Given the description of an element on the screen output the (x, y) to click on. 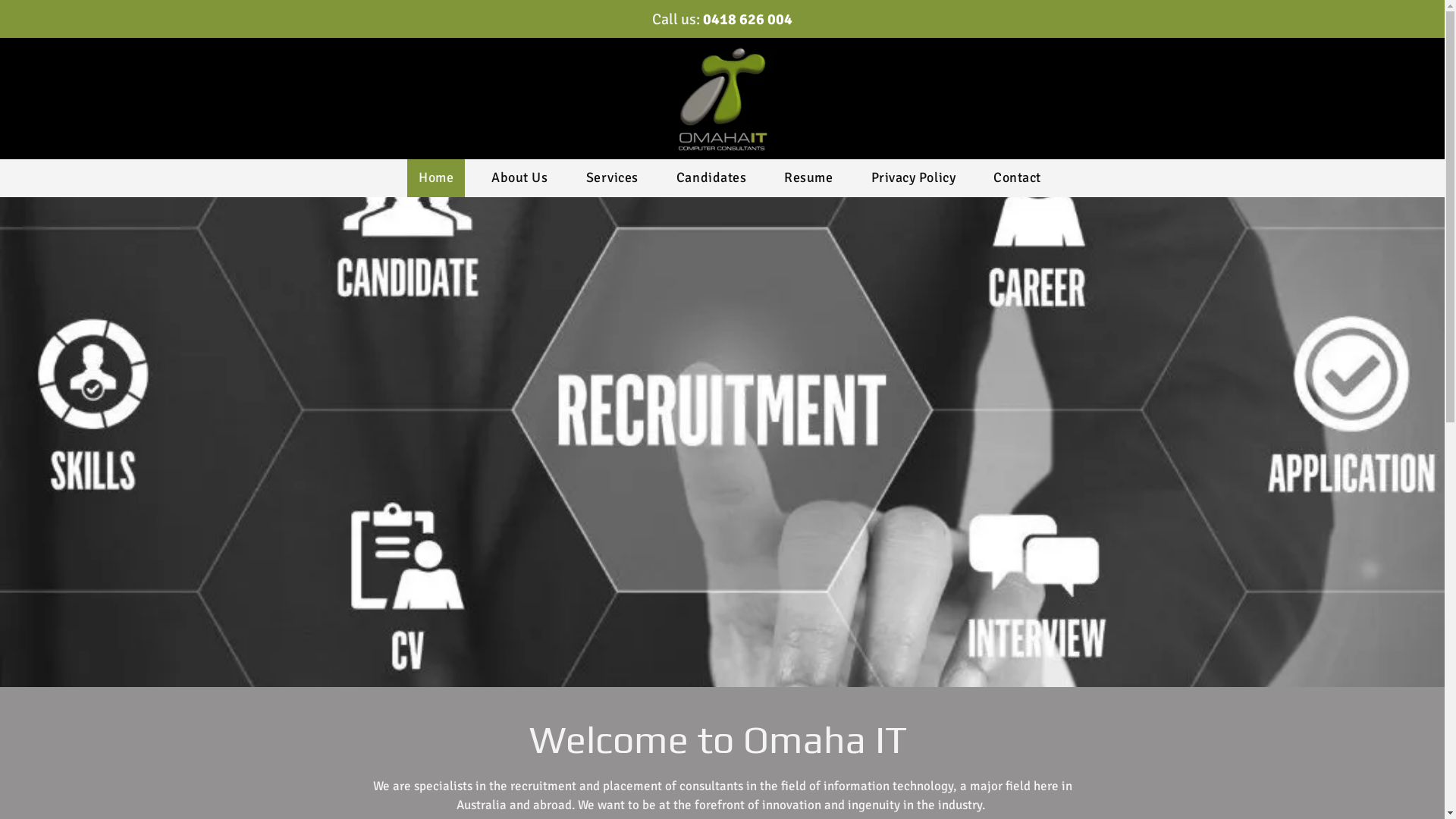
Candidates Element type: text (711, 178)
Services Element type: text (611, 178)
Home Element type: text (435, 178)
0418 626 004 Element type: text (747, 18)
Omaha IT Element type: hover (722, 98)
Privacy Policy Element type: text (913, 178)
Resume Element type: text (808, 178)
About Us Element type: text (519, 178)
Contact Element type: text (1017, 178)
